Given the description of an element on the screen output the (x, y) to click on. 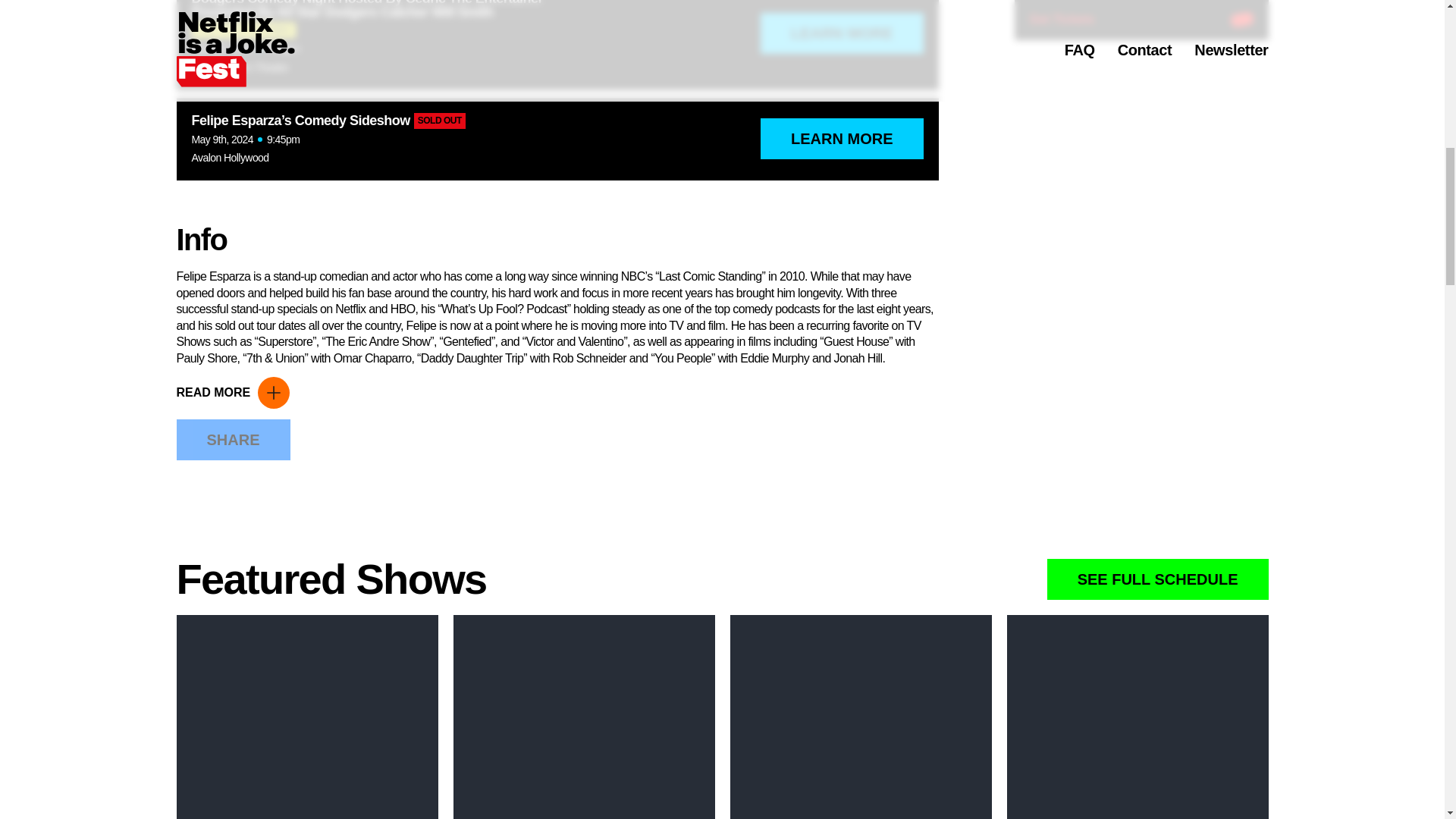
SEE FULL SCHEDULE (1157, 578)
SHARE (232, 439)
LEARN MORE (841, 33)
READ MORE (232, 392)
LEARN MORE (841, 137)
Get Tickets (1141, 7)
